Given the description of an element on the screen output the (x, y) to click on. 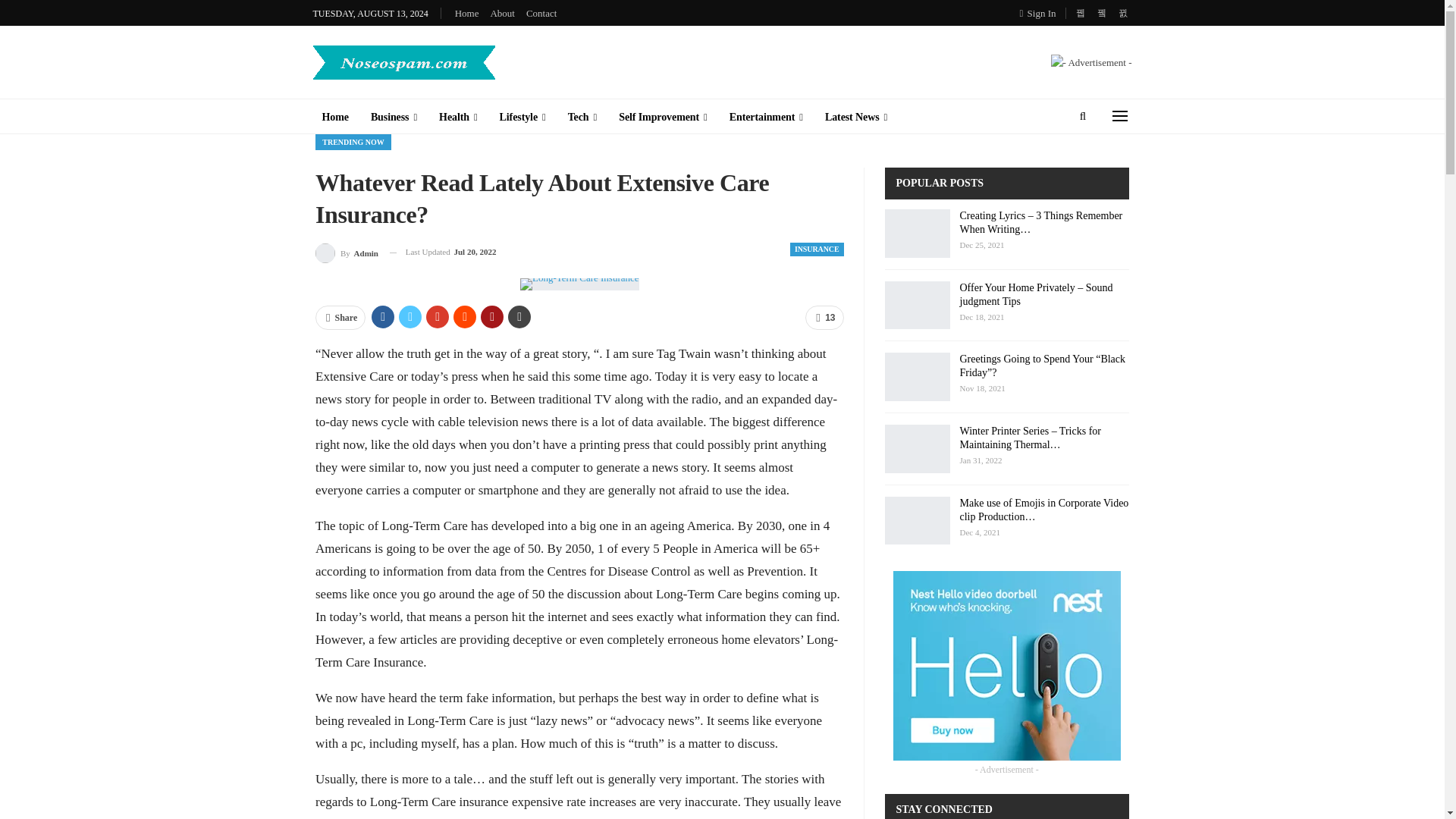
Home (334, 117)
Sign In (1041, 13)
Health (457, 117)
Lifestyle (522, 117)
Home (466, 12)
Business (393, 117)
About (502, 12)
Browse Author Articles (346, 251)
Contact (540, 12)
Tech (583, 117)
